Given the description of an element on the screen output the (x, y) to click on. 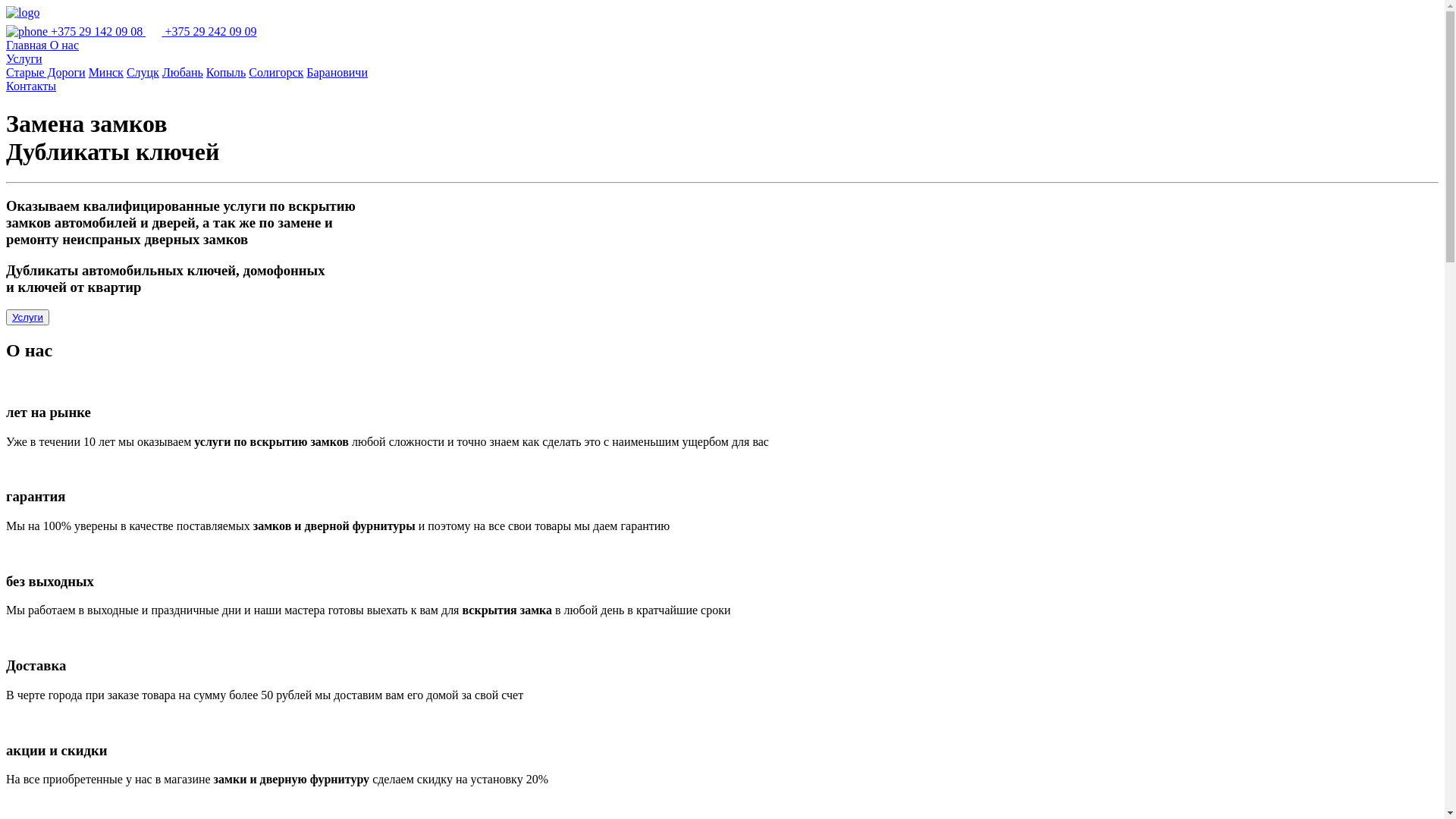
+375 29 142 09 08 Element type: text (75, 31)
+375 29 242 09 09 Element type: text (200, 31)
